Given the description of an element on the screen output the (x, y) to click on. 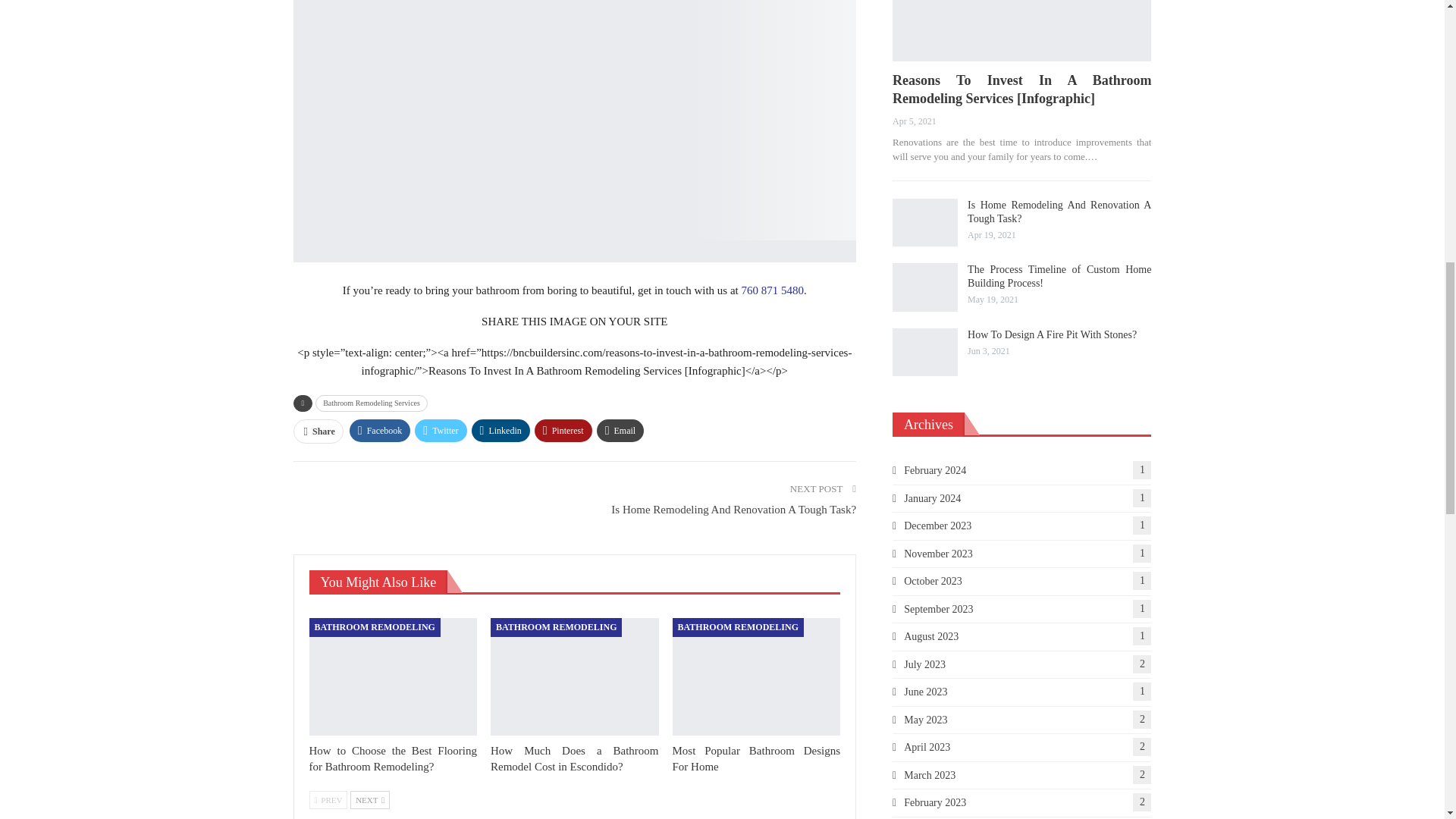
Facebook (379, 430)
Next (370, 800)
The Process Timeline of Custom Home Building Process! (925, 287)
Previous (327, 800)
760 871 5480 (773, 290)
Most Popular Bathroom Designs For Home (756, 758)
BATHROOM REMODELING (374, 627)
Email (620, 430)
How to Choose the Best Flooring for Bathroom Remodeling? (392, 758)
Twitter (439, 430)
